Given the description of an element on the screen output the (x, y) to click on. 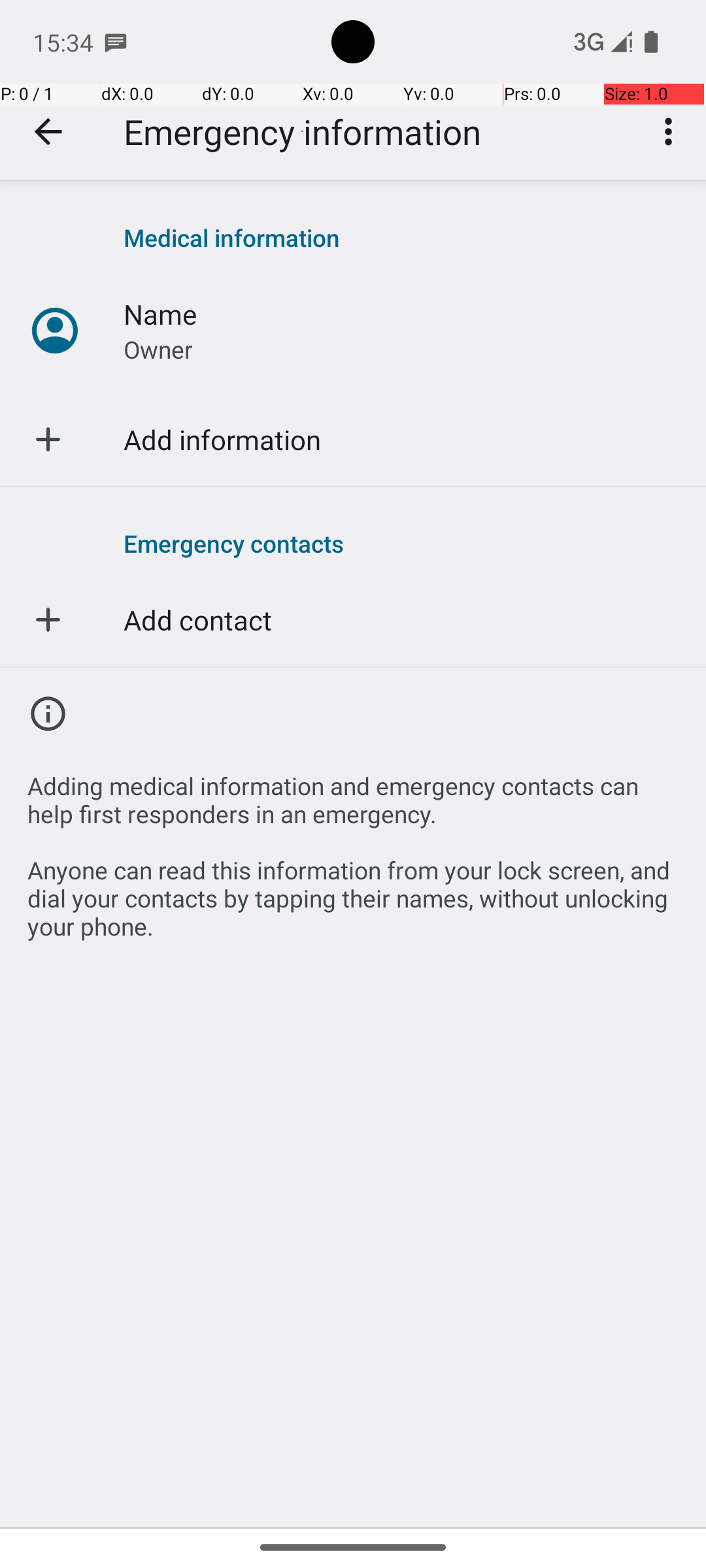
Emergency information Element type: android.widget.TextView (302, 131)
Medical information Element type: android.widget.TextView (400, 237)
Owner Element type: android.widget.TextView (157, 348)
Add information Element type: android.widget.TextView (221, 438)
Emergency contacts Element type: android.widget.TextView (400, 542)
Add contact Element type: android.widget.TextView (197, 619)
Adding medical information and emergency contacts can help first responders in an emergency.

Anyone can read this information from your lock screen, and dial your contacts by tapping their names, without unlocking your phone. Element type: android.widget.TextView (352, 848)
